Given the description of an element on the screen output the (x, y) to click on. 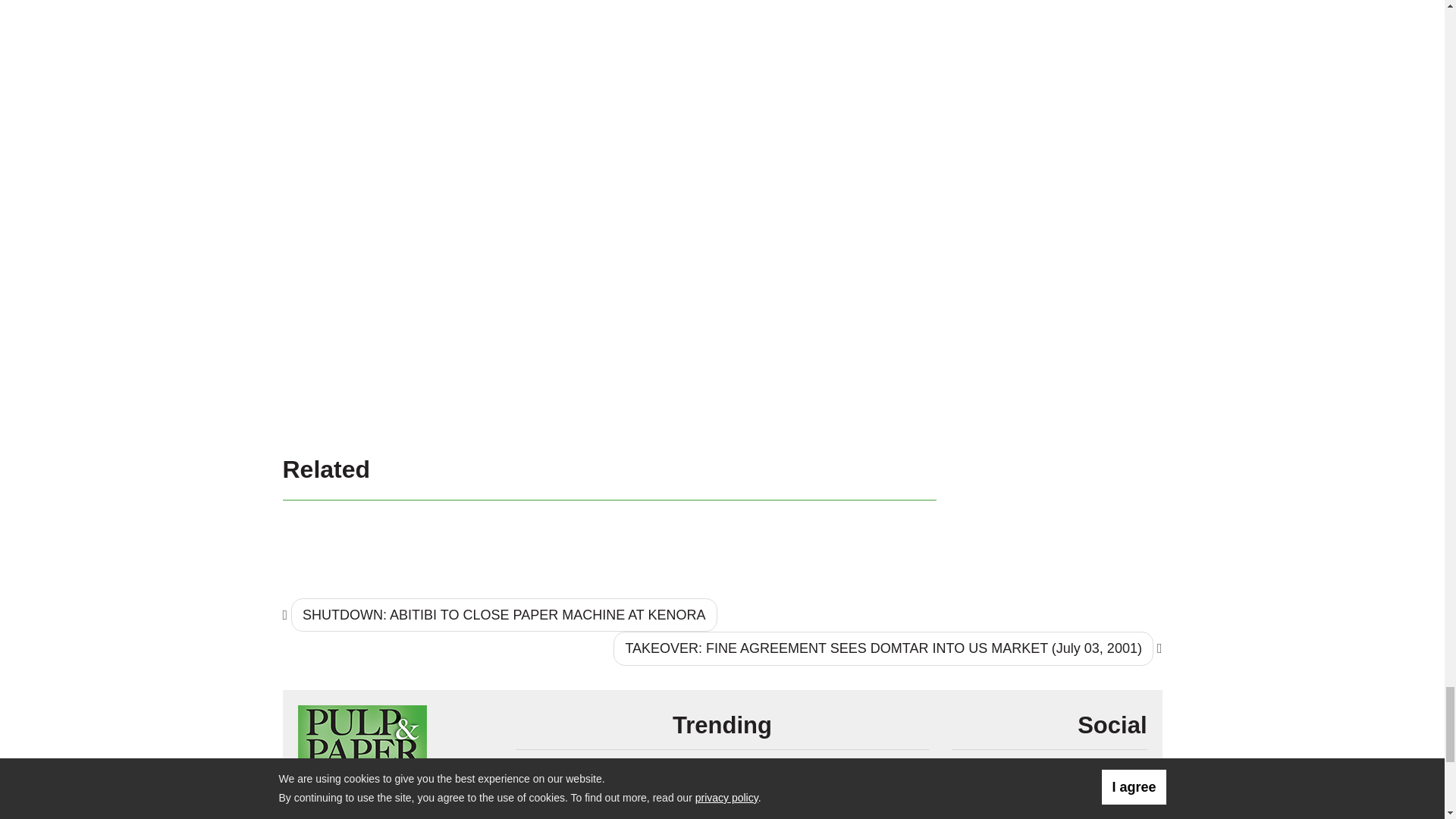
Pulp and Paper Canada (361, 744)
